Given the description of an element on the screen output the (x, y) to click on. 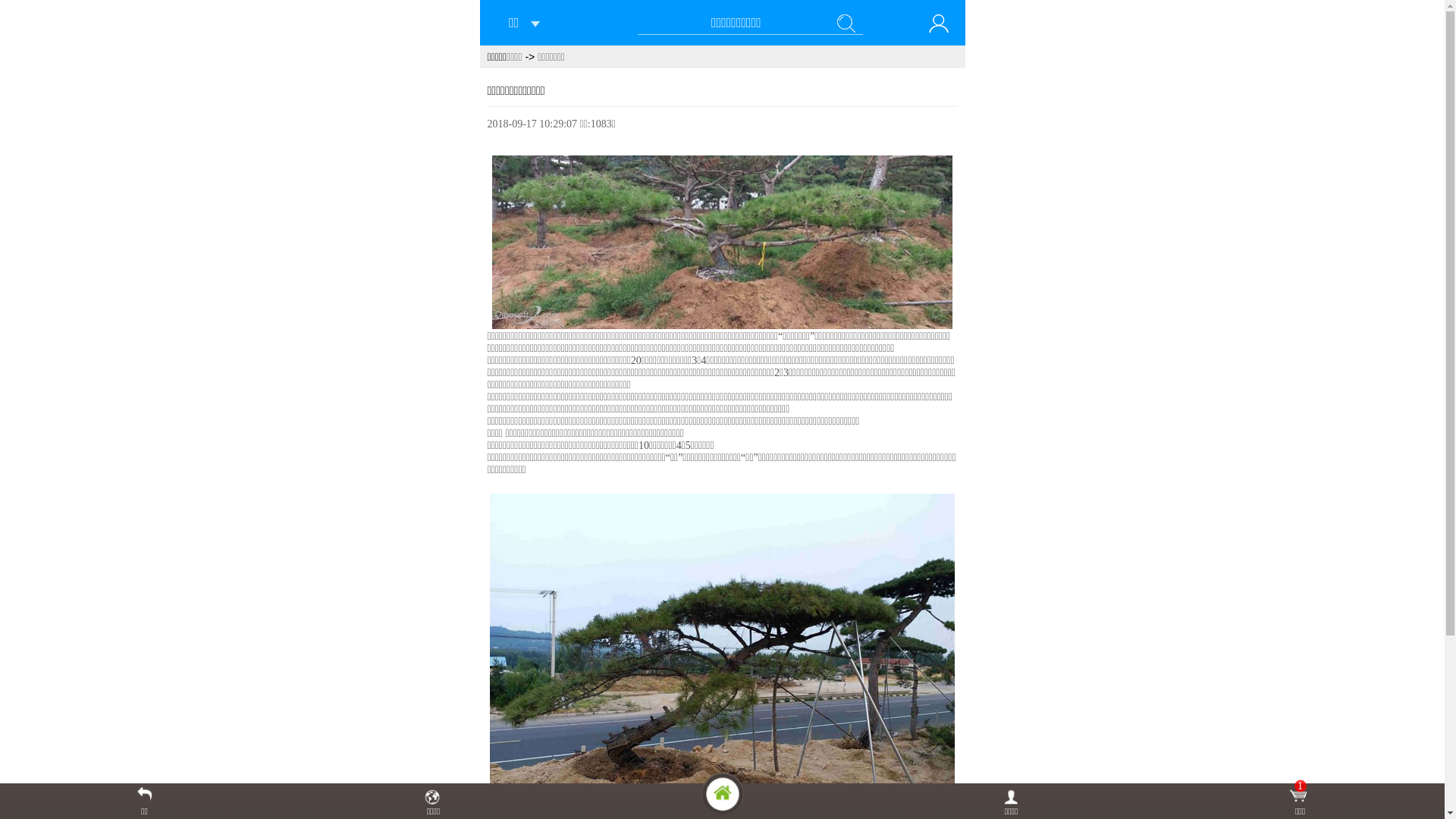
14.jpg Element type: hover (722, 242)
